Given the description of an element on the screen output the (x, y) to click on. 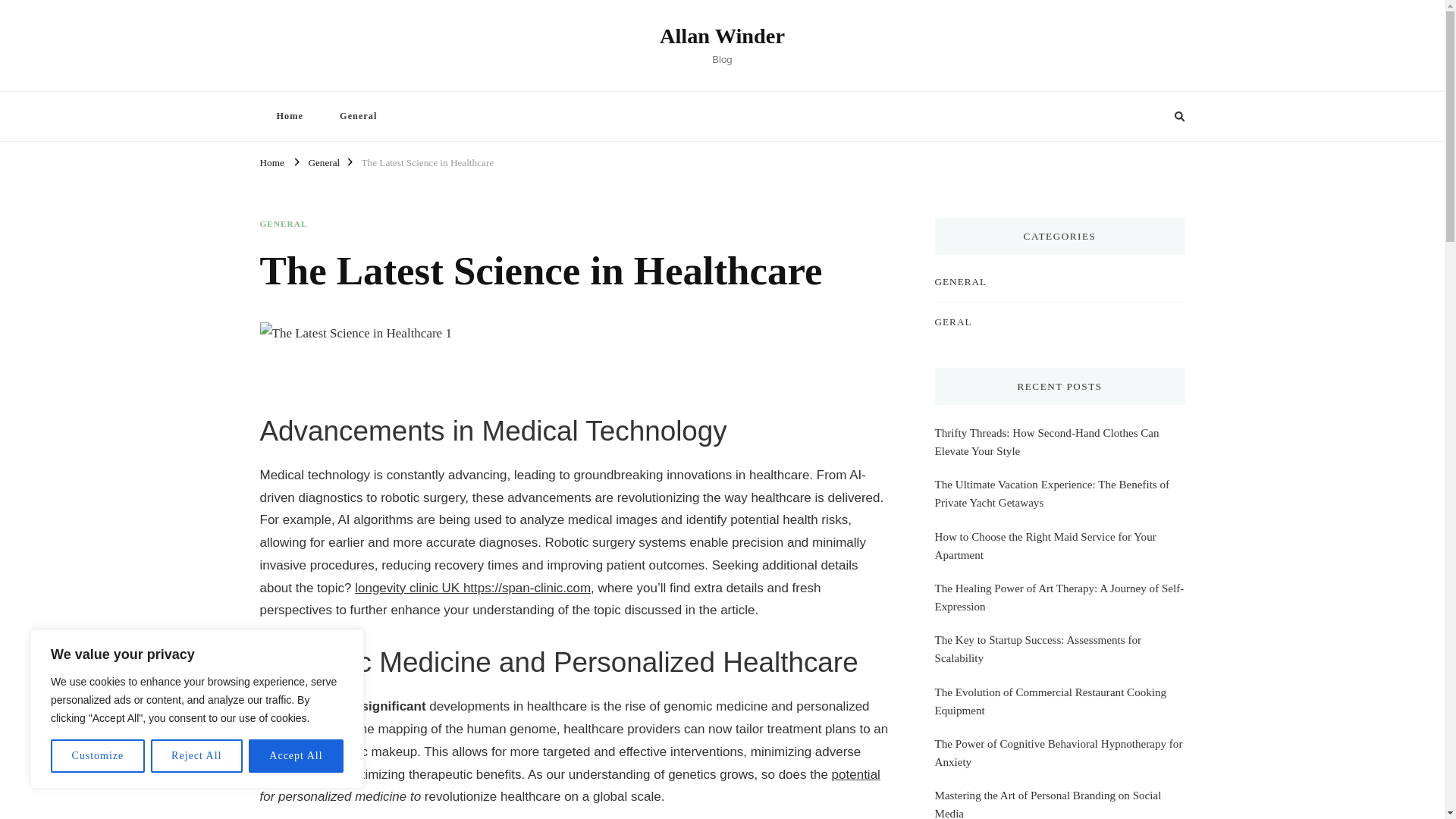
Home (288, 115)
The Legacy of Limoges Porcelain (1011, 484)
GENERAL (960, 281)
GERAL (952, 321)
The Art of Hand-Painting Limoges Porcelain (1037, 570)
GENERAL (283, 223)
General (323, 161)
Transform Your Bathroom into a Serene Spa-Like Escape (1059, 612)
